Given the description of an element on the screen output the (x, y) to click on. 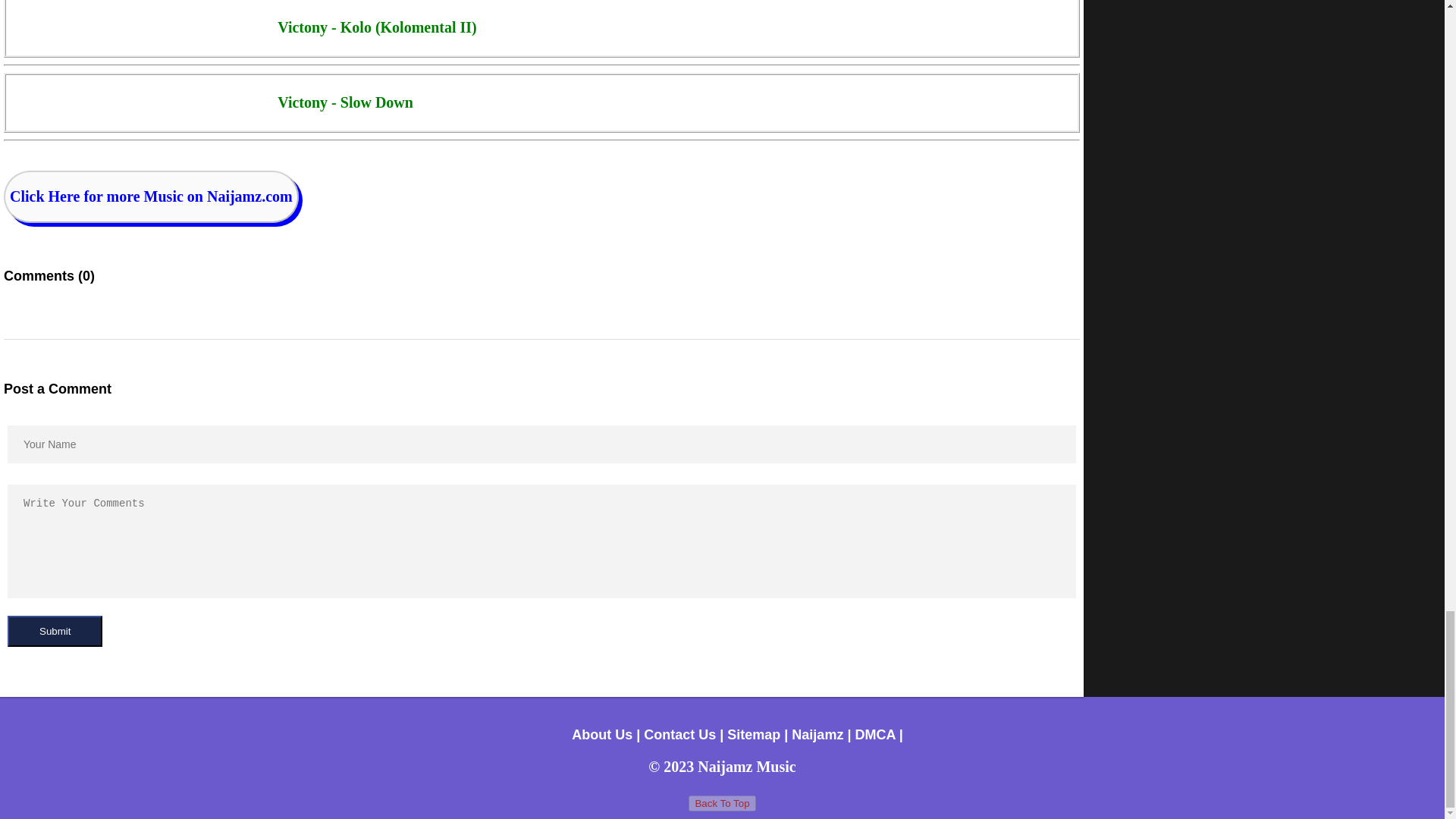
Go to top (721, 803)
